Given the description of an element on the screen output the (x, y) to click on. 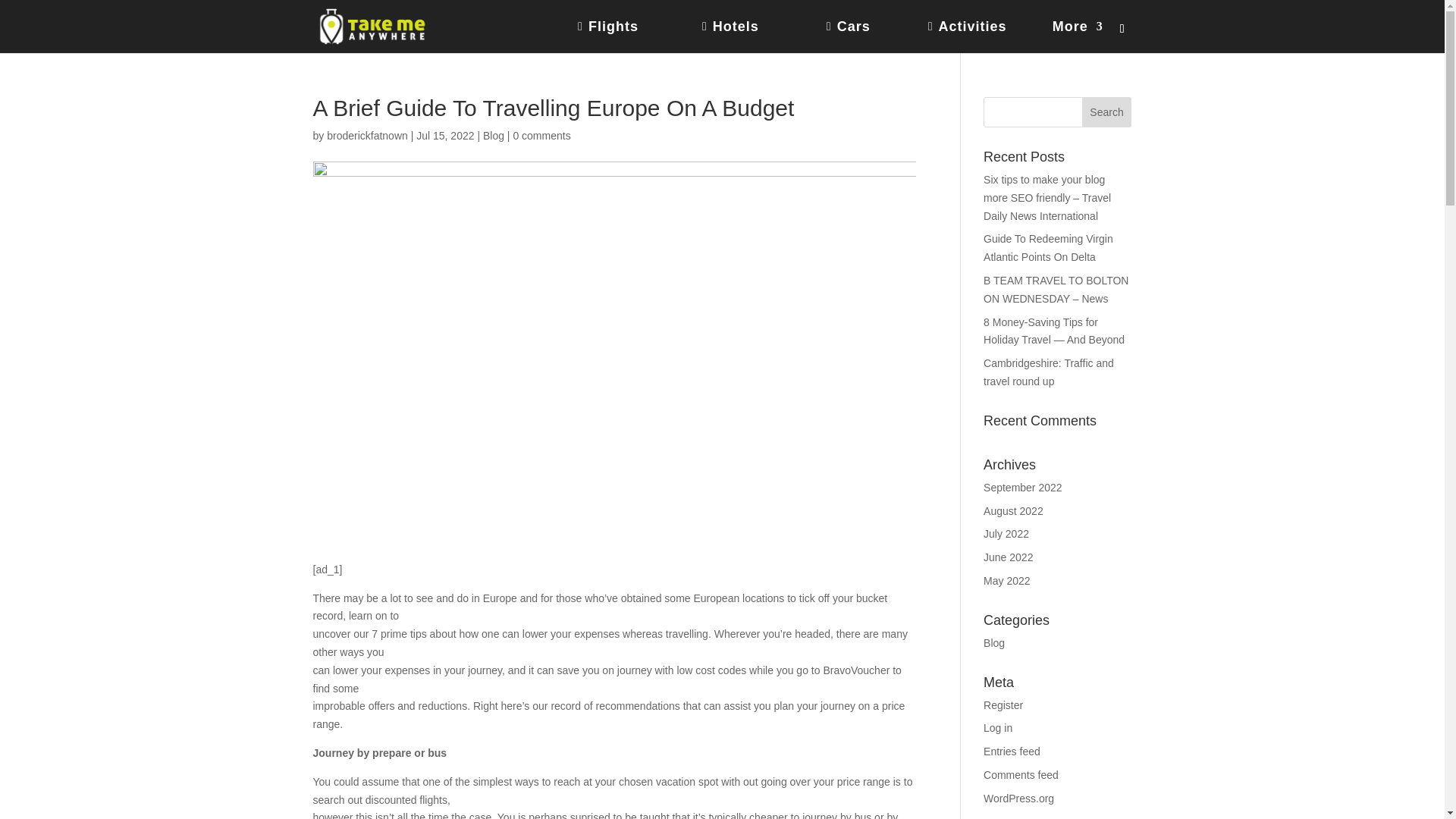
Cars (867, 37)
Activities (980, 37)
Flights (630, 37)
Posts by broderickfatnown (366, 135)
Cambridgeshire: Traffic and travel round up (1048, 372)
Search (1106, 112)
broderickfatnown (366, 135)
Blog (493, 135)
September 2022 (1023, 487)
August 2022 (1013, 510)
0 comments (541, 135)
